Given the description of an element on the screen output the (x, y) to click on. 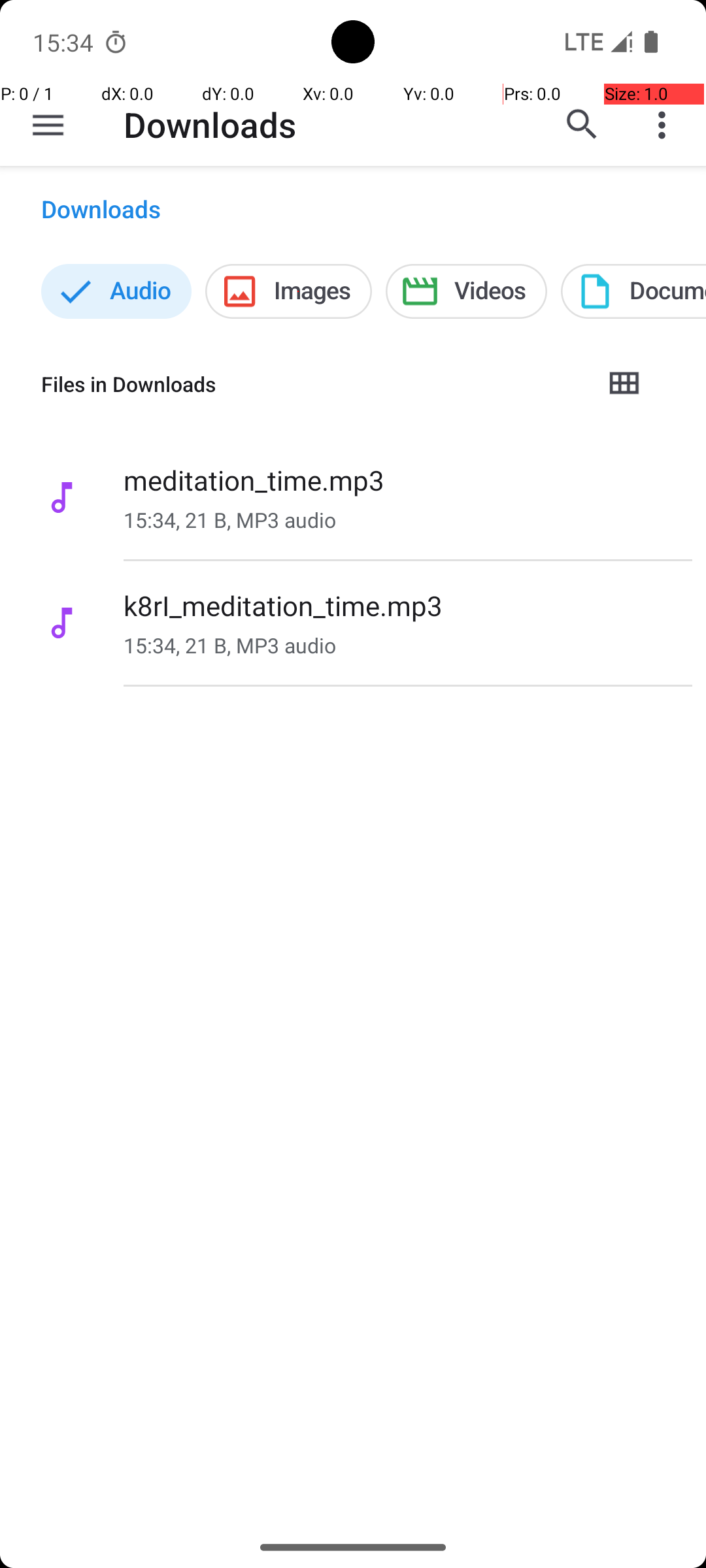
meditation_time.mp3 Element type: android.widget.TextView (253, 479)
15:34, 21 B, MP3 audio Element type: android.widget.TextView (229, 519)
k8rI_meditation_time.mp3 Element type: android.widget.TextView (282, 604)
